Given the description of an element on the screen output the (x, y) to click on. 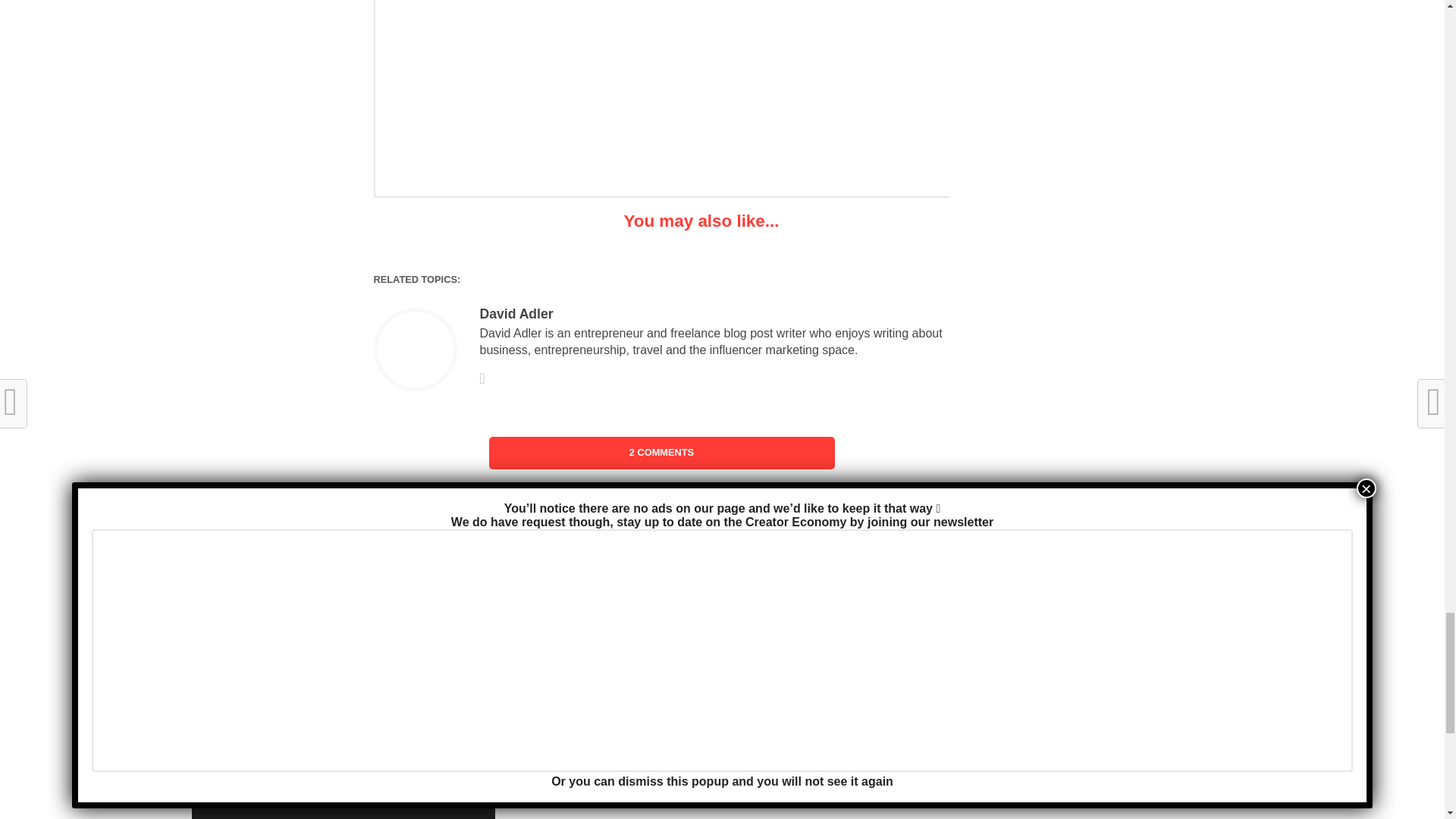
Posts by David Adler (516, 313)
Posts by David Adler (558, 639)
Posts by Nii A. Ahene (556, 818)
